Given the description of an element on the screen output the (x, y) to click on. 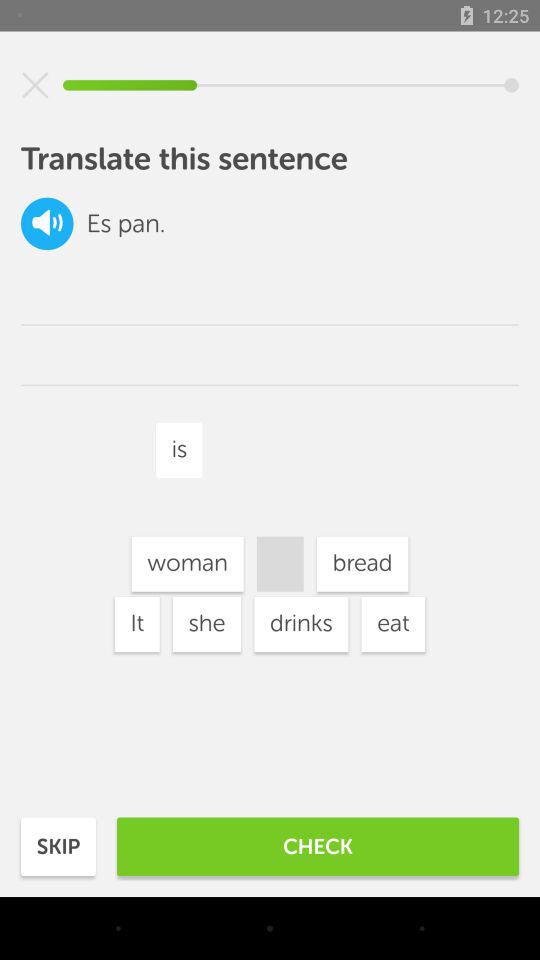
launch the eat item (393, 624)
